Given the description of an element on the screen output the (x, y) to click on. 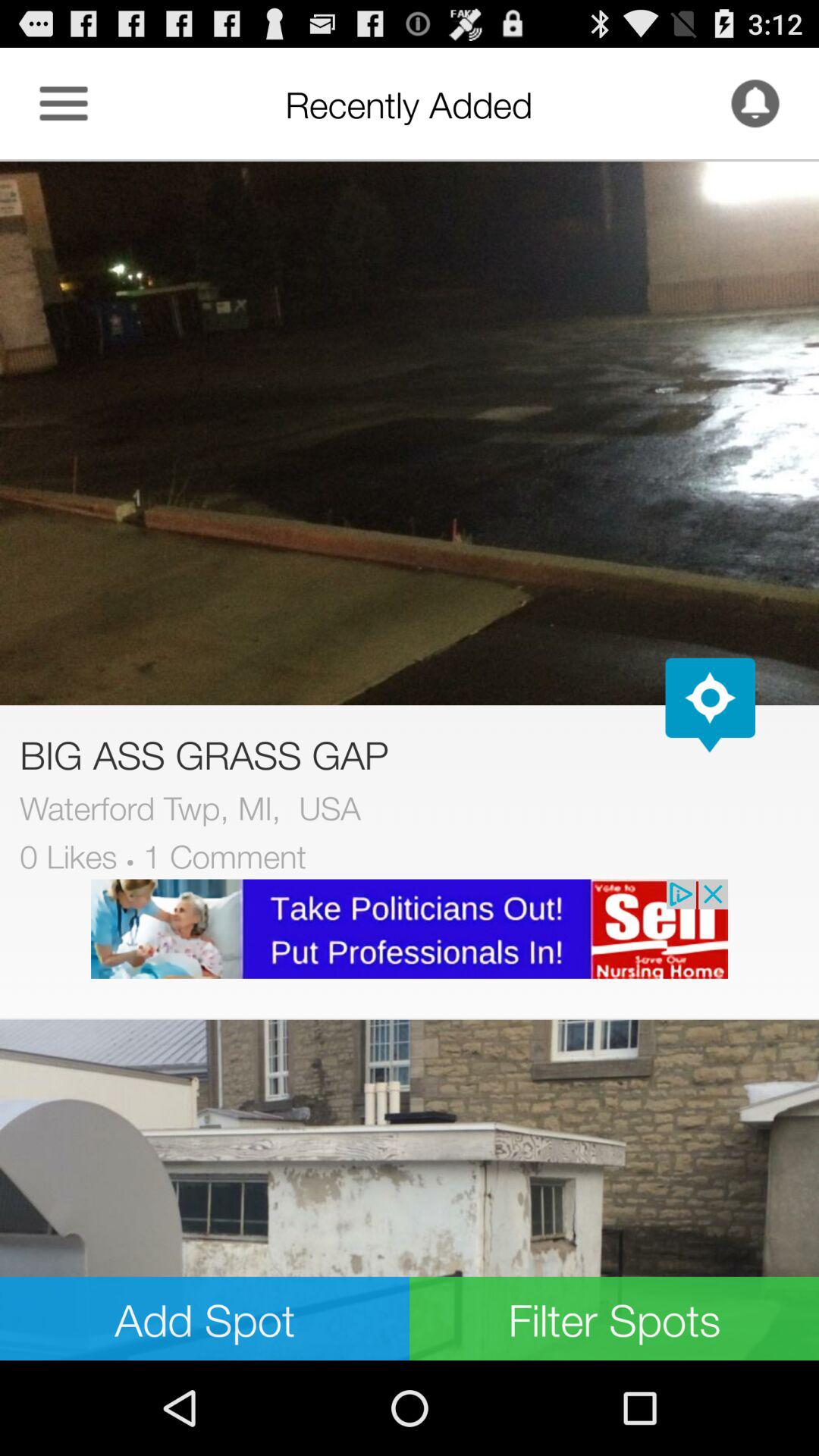
open map (710, 705)
